Given the description of an element on the screen output the (x, y) to click on. 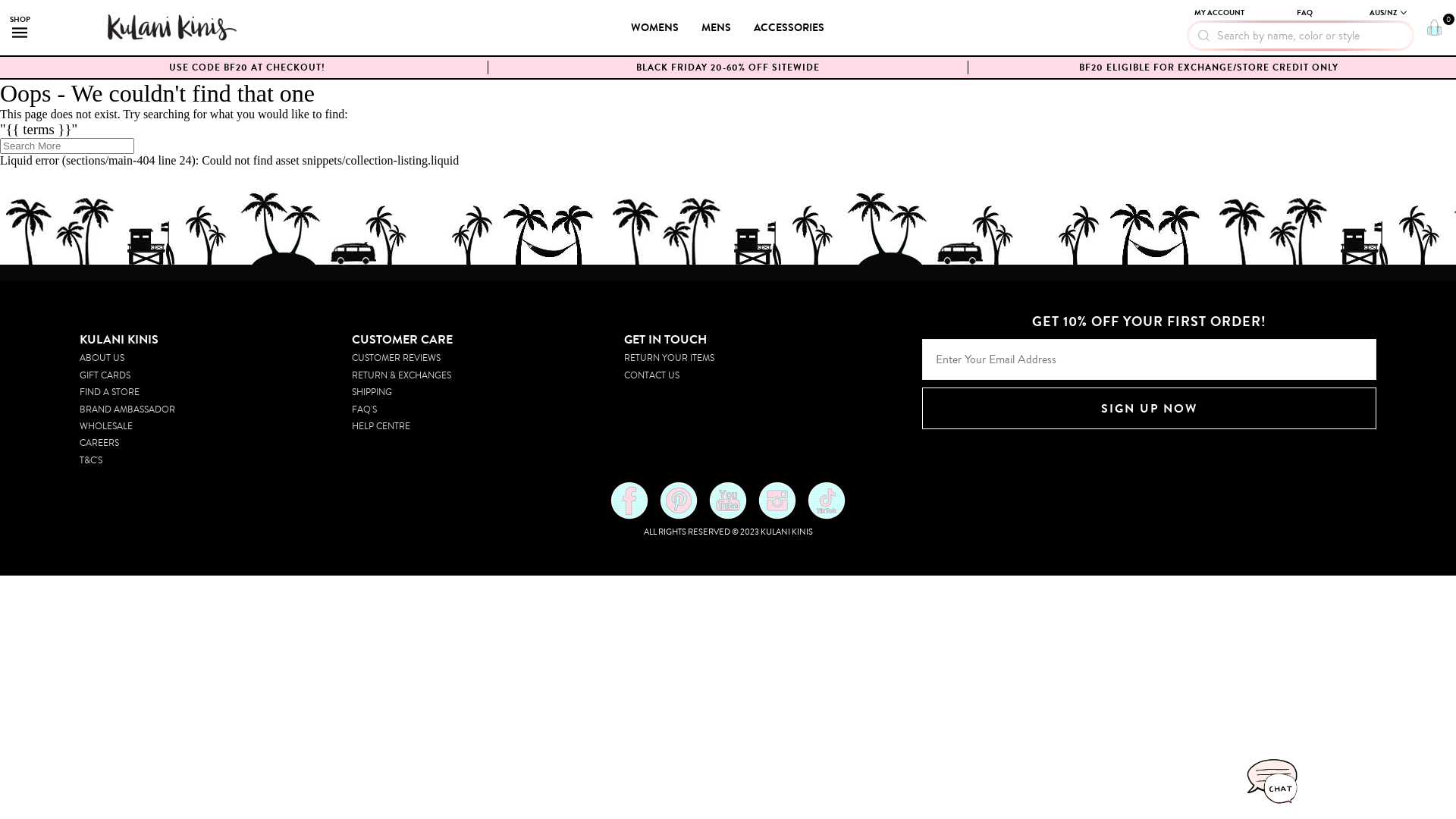
T&C'S Element type: text (90, 460)
MENS Element type: text (716, 27)
MY ACCOUNT Element type: text (1218, 12)
SHIPPING Element type: text (371, 391)
FAQ Element type: text (1304, 12)
ABOUT US Element type: text (101, 357)
CAREERS Element type: text (99, 442)
WHOLESALE Element type: text (105, 426)
AUS/NZ Element type: text (1387, 11)
CUSTOMER REVIEWS Element type: text (395, 357)
FIND A STORE Element type: text (109, 391)
Search Element type: text (94, 14)
SHOP Element type: text (19, 27)
CONTACT US Element type: text (651, 375)
ACCESSORIES Element type: text (788, 27)
BRAND AMBASSADOR Element type: text (127, 409)
HELP CENTRE Element type: text (380, 426)
WOMENS Element type: text (654, 27)
FAQ'S Element type: text (363, 409)
GIFT CARDS Element type: text (104, 375)
RETURN & EXCHANGES Element type: text (401, 375)
SIGN UP NOW Element type: text (1149, 408)
RETURN YOUR ITEMS Element type: text (669, 357)
Search Element type: text (21, 7)
